Given the description of an element on the screen output the (x, y) to click on. 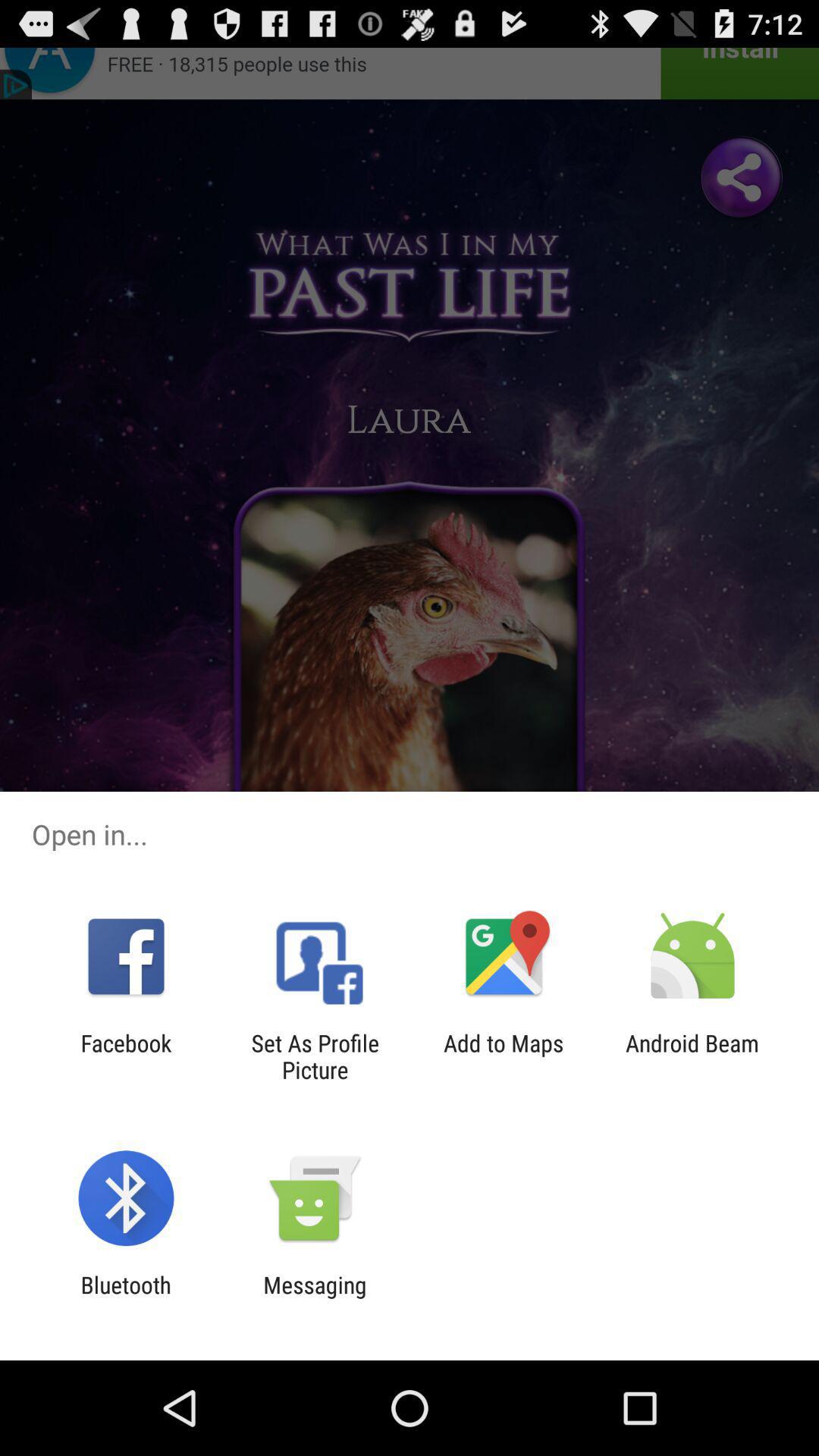
launch the app to the left of add to maps (314, 1056)
